Given the description of an element on the screen output the (x, y) to click on. 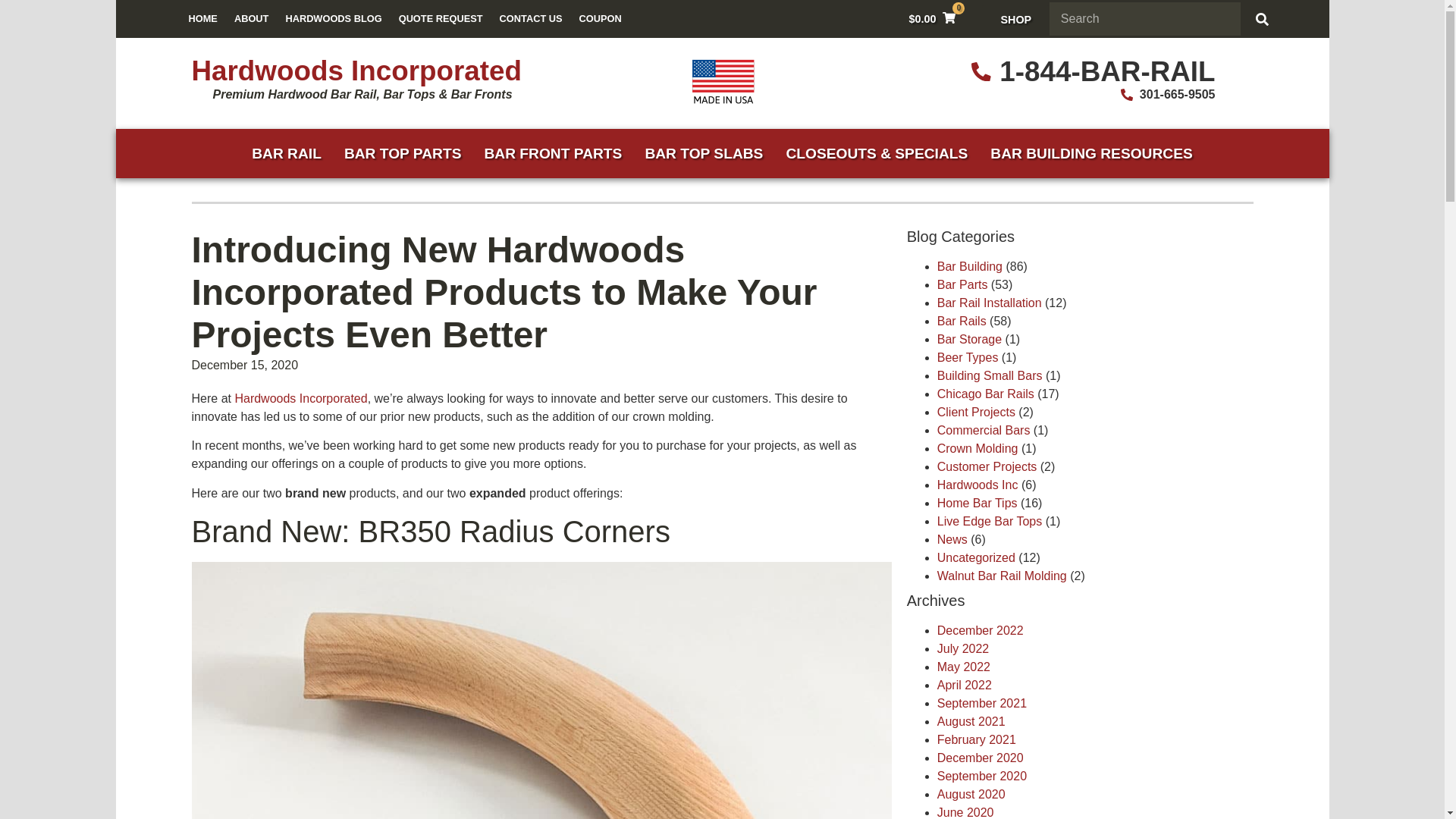
ABOUT (251, 18)
Online Quote Request Form (441, 18)
BAR BUILDING RESOURCES (1091, 153)
BAR TOP PARTS (403, 153)
Premium Hardwood Bar Parts (300, 398)
BAR FRONT PARTS (552, 153)
CONTACT US (531, 18)
HARDWOODS BLOG (333, 18)
COUPON (600, 18)
BAR RAIL (286, 153)
QUOTE REQUEST (441, 18)
Hardwoods Incorporated (300, 398)
How To Build a Bar  (1091, 153)
BAR TOP SLABS (703, 153)
Bar Parts (962, 284)
